Given the description of an element on the screen output the (x, y) to click on. 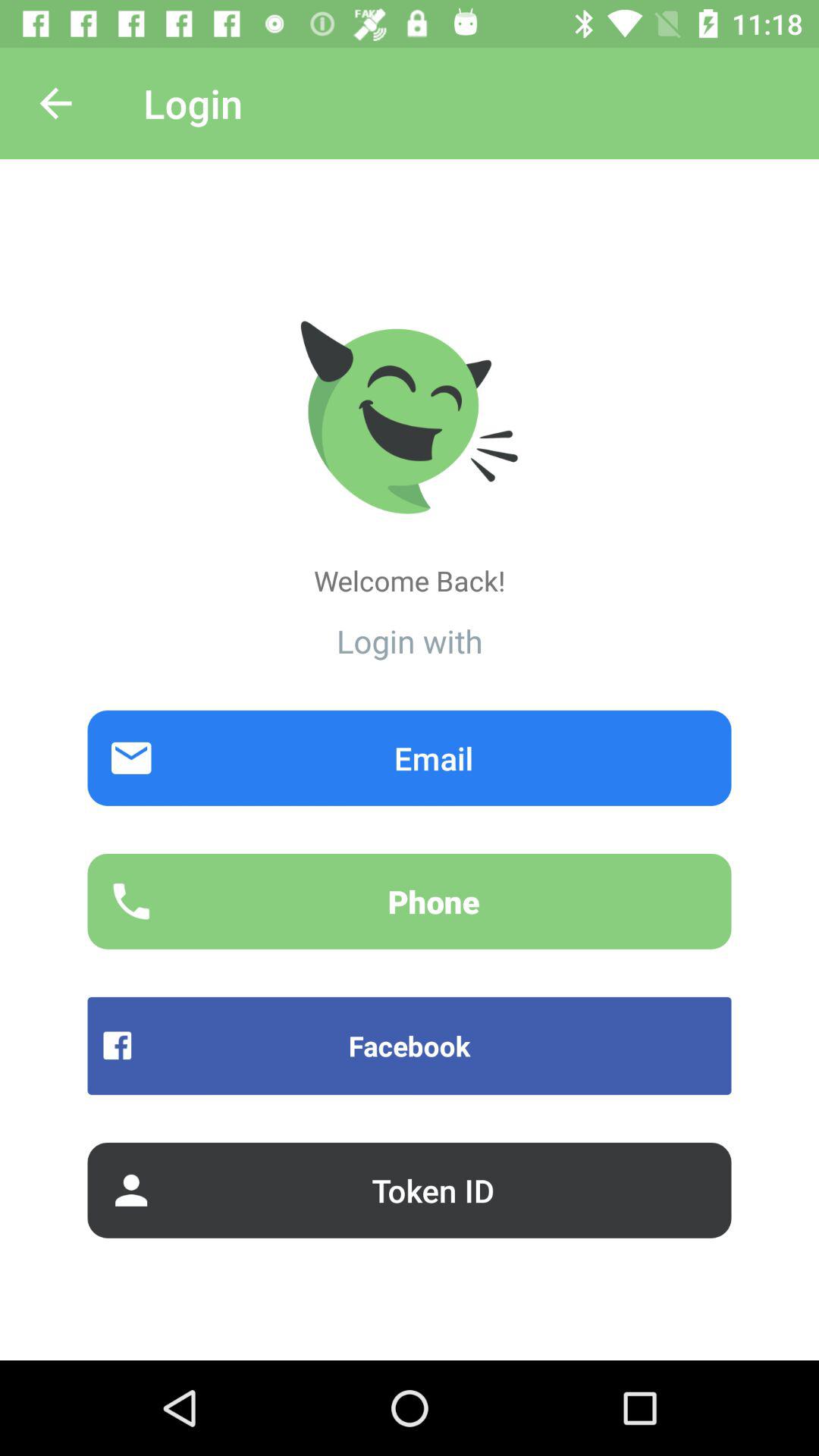
turn off item above the token id item (409, 1045)
